Given the description of an element on the screen output the (x, y) to click on. 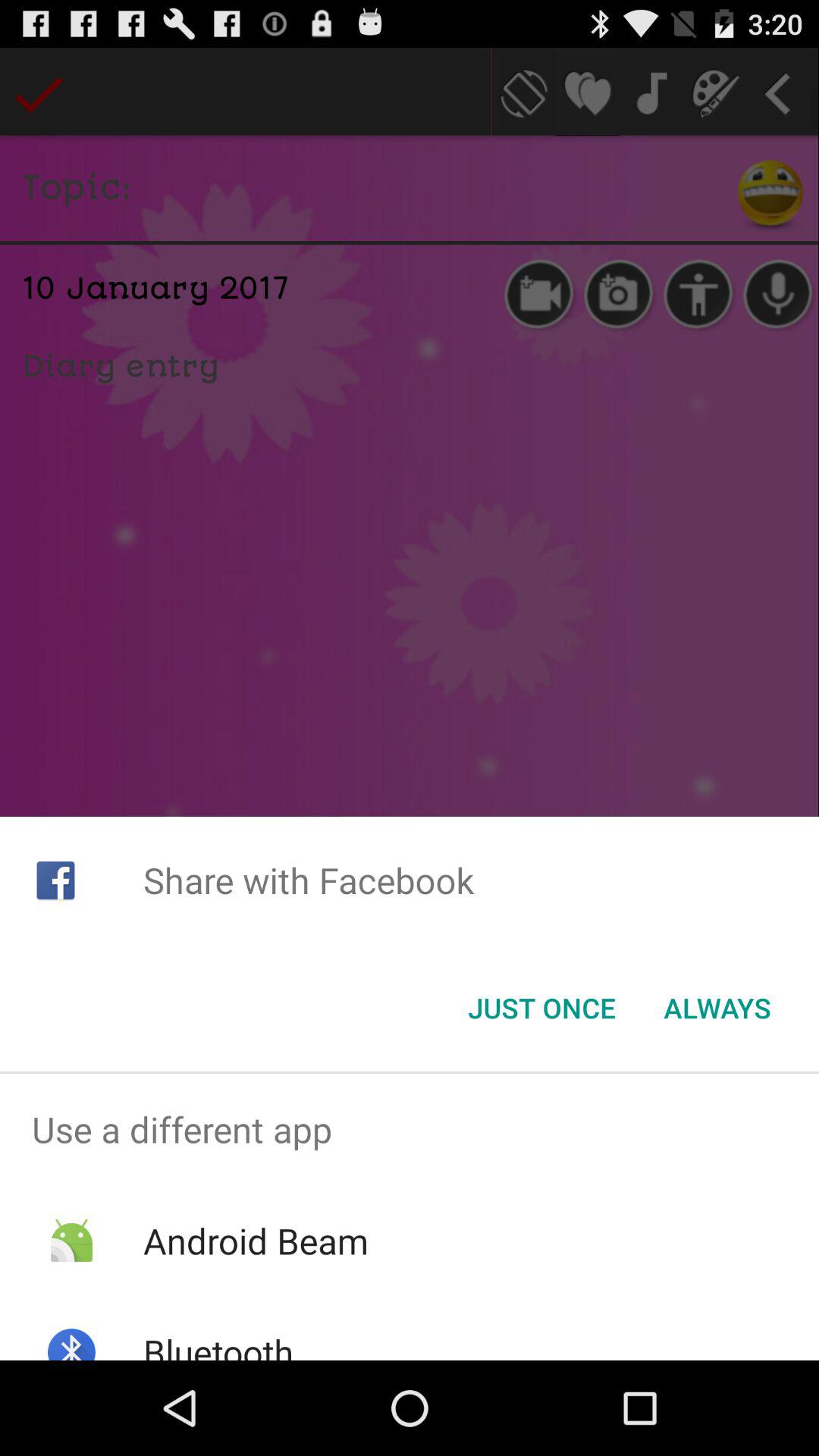
scroll until just once icon (541, 1007)
